Given the description of an element on the screen output the (x, y) to click on. 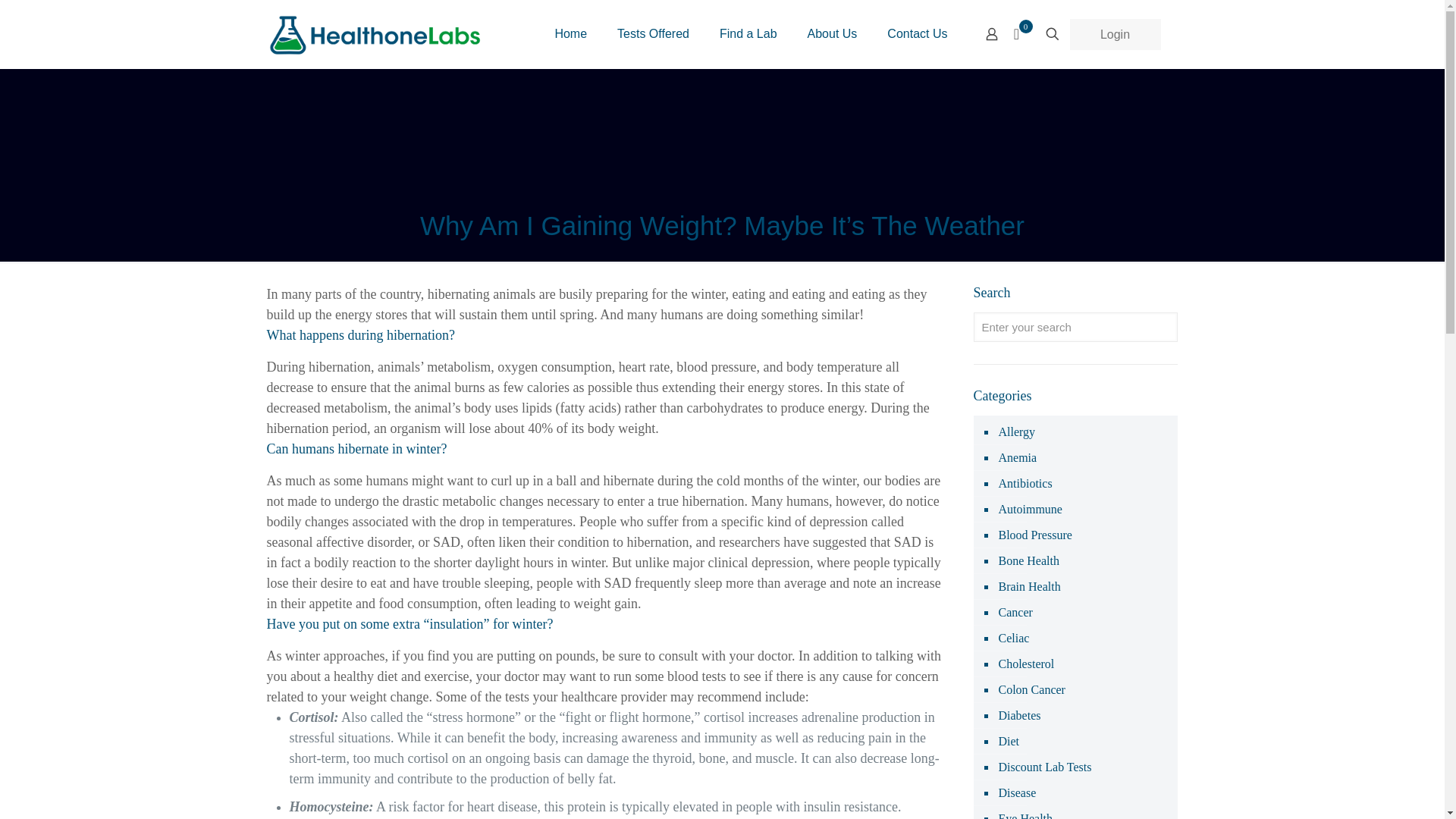
Diet (1007, 741)
Discount Lab Tests (1043, 767)
Contact Us (917, 33)
Colon Cancer (1030, 689)
Bone Health (1027, 560)
Cholesterol (1024, 664)
Login (1114, 33)
Allergy (1015, 432)
Diabetes (1018, 715)
Health One Labs (373, 33)
0 (1021, 33)
Blood Pressure (1033, 534)
Find a Lab (748, 33)
Brain Health (1028, 586)
Anemia (1015, 457)
